Given the description of an element on the screen output the (x, y) to click on. 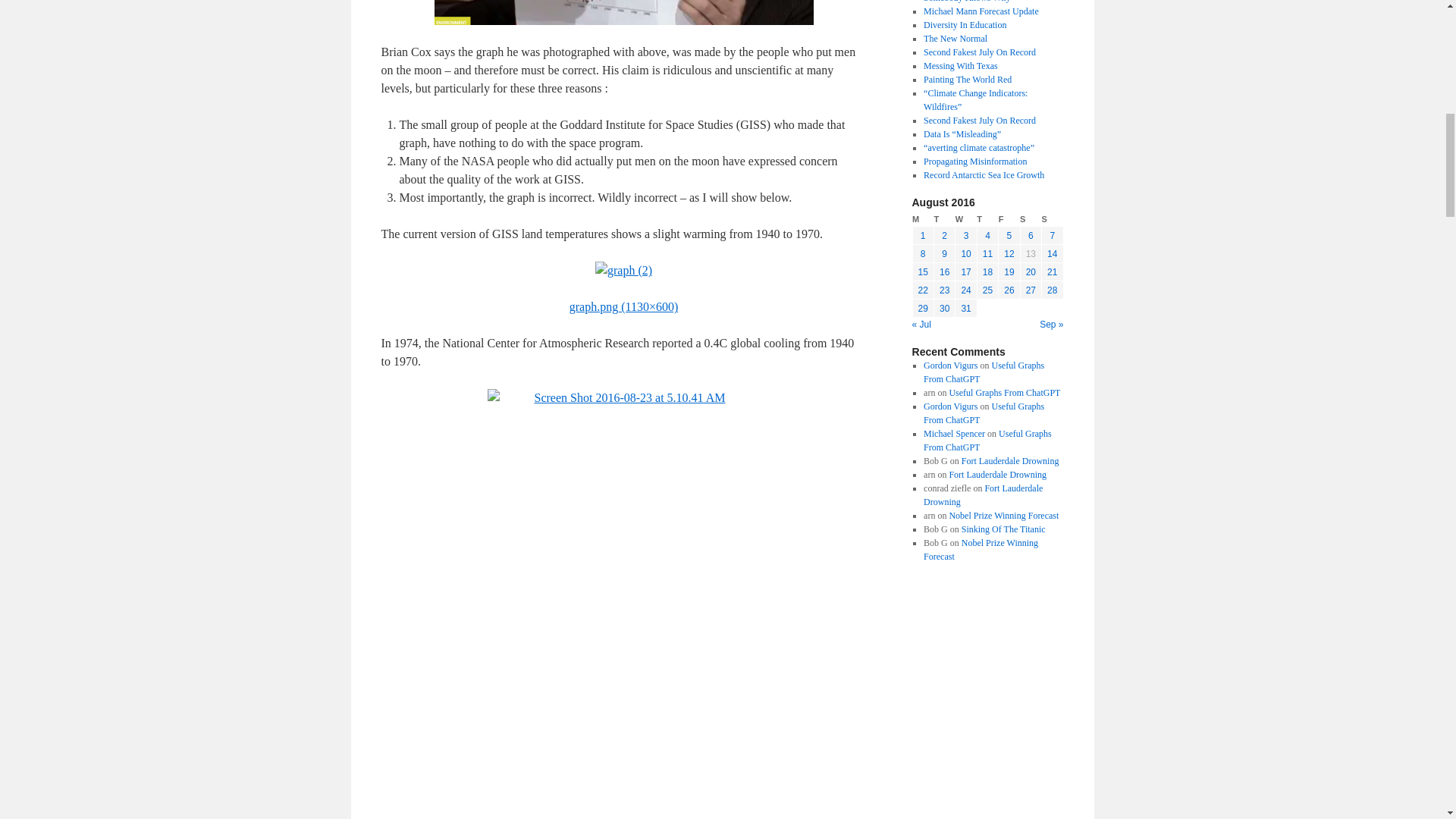
Tuesday (944, 219)
Monday (922, 219)
Saturday (1030, 219)
Thursday (986, 219)
Wednesday (965, 219)
Friday (1009, 219)
Sunday (1052, 219)
